Given the description of an element on the screen output the (x, y) to click on. 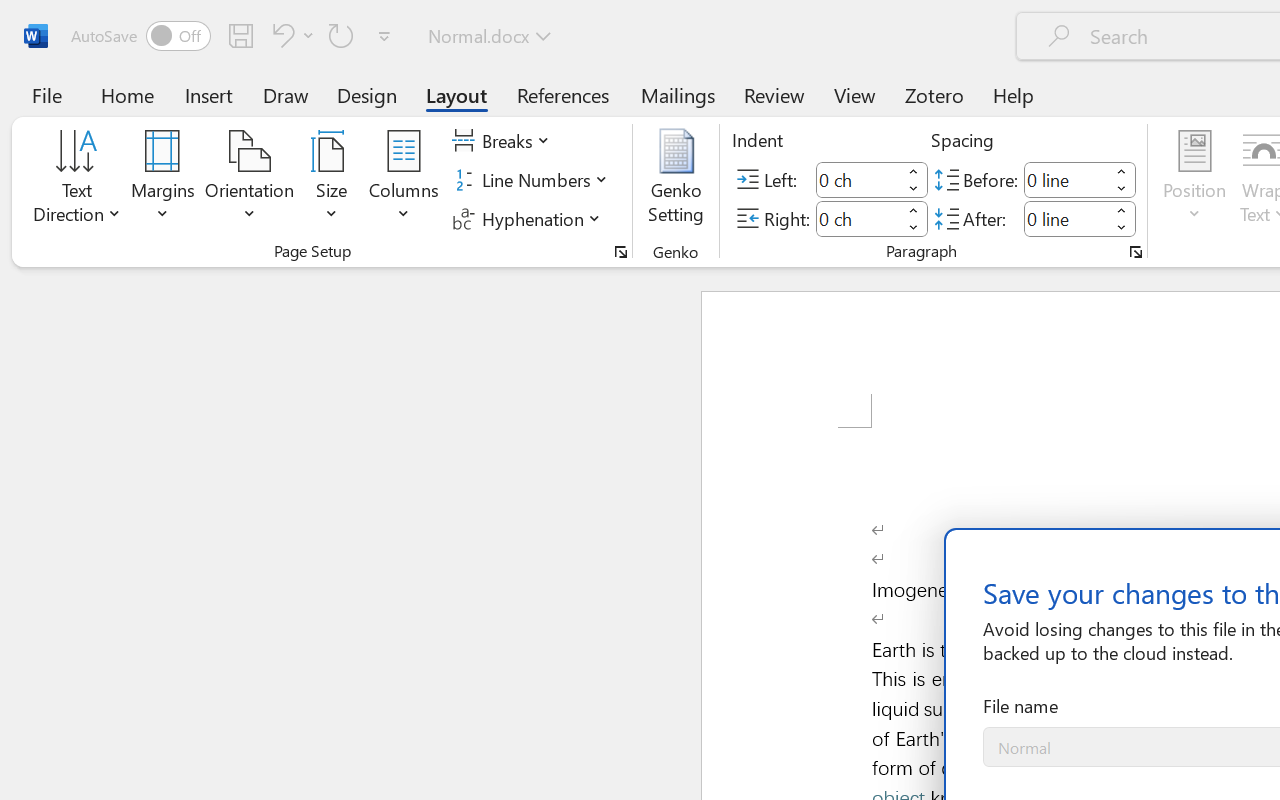
Margins (163, 179)
Help (1013, 94)
Repeat Paste Option (341, 35)
Line Numbers (532, 179)
More (1121, 210)
Hyphenation (529, 218)
Size (331, 179)
Indent Left (858, 179)
